Given the description of an element on the screen output the (x, y) to click on. 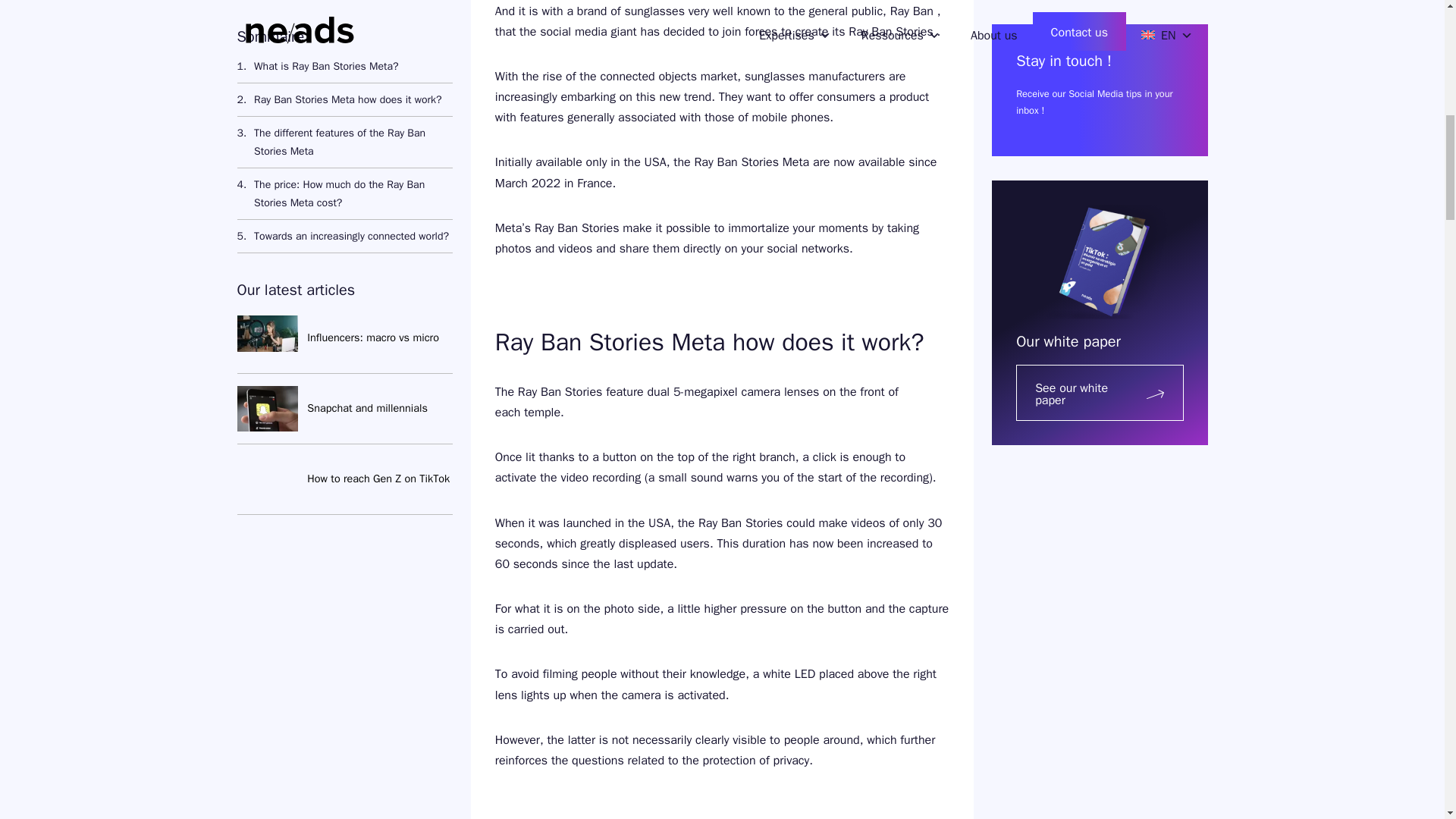
Towards an increasingly connected world? (341, 10)
Snapchat and millennials (367, 175)
How to reach Gen Z on TikTok (378, 246)
Influencers: macro vs micro (373, 105)
